Given the description of an element on the screen output the (x, y) to click on. 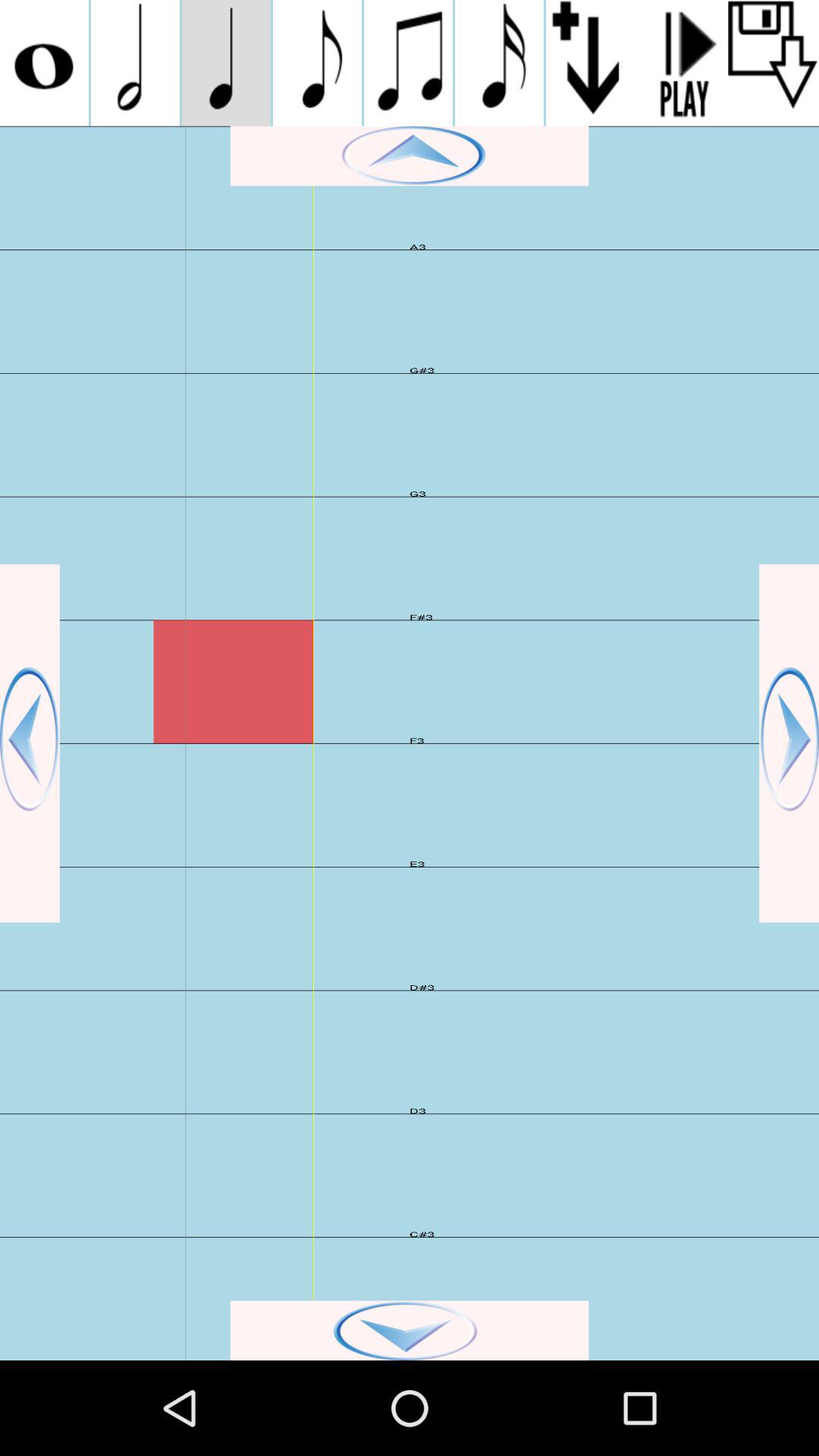
muclc (408, 63)
